Given the description of an element on the screen output the (x, y) to click on. 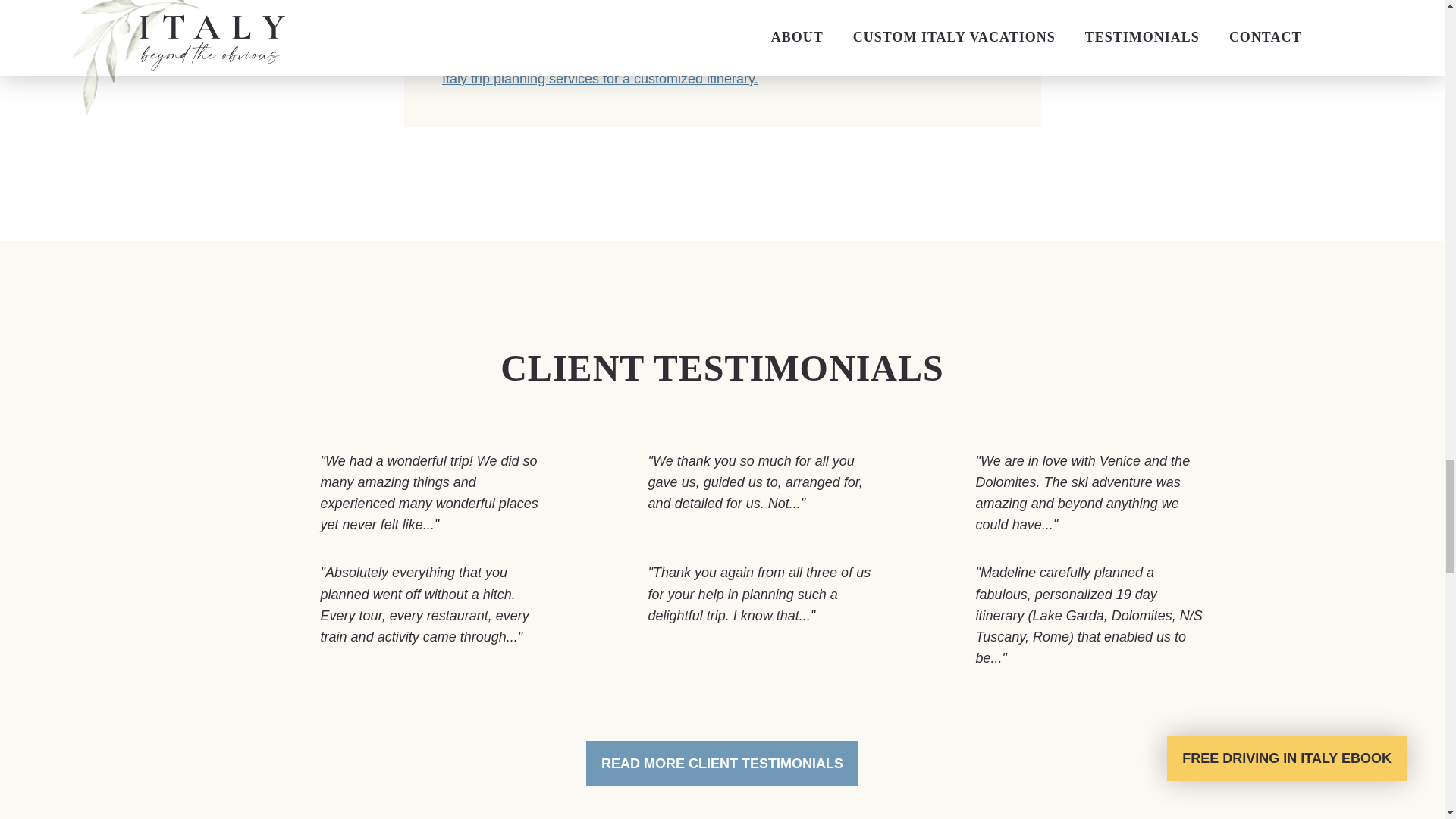
READ MORE CLIENT TESTIMONIALS (722, 763)
